Given the description of an element on the screen output the (x, y) to click on. 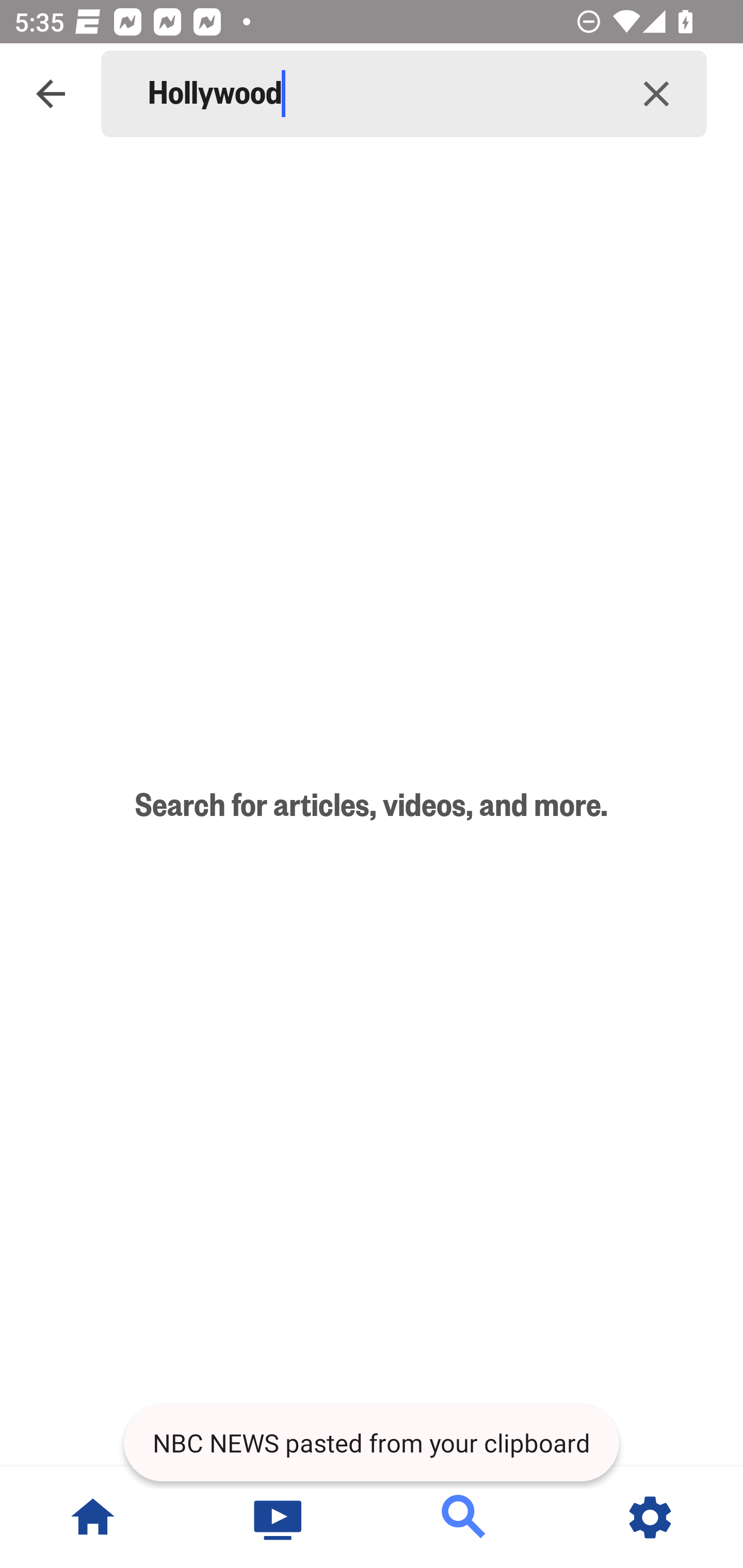
Navigate up (50, 93)
Clear query (656, 93)
Hollywood (376, 94)
NBC News Home (92, 1517)
Watch (278, 1517)
Settings (650, 1517)
